Given the description of an element on the screen output the (x, y) to click on. 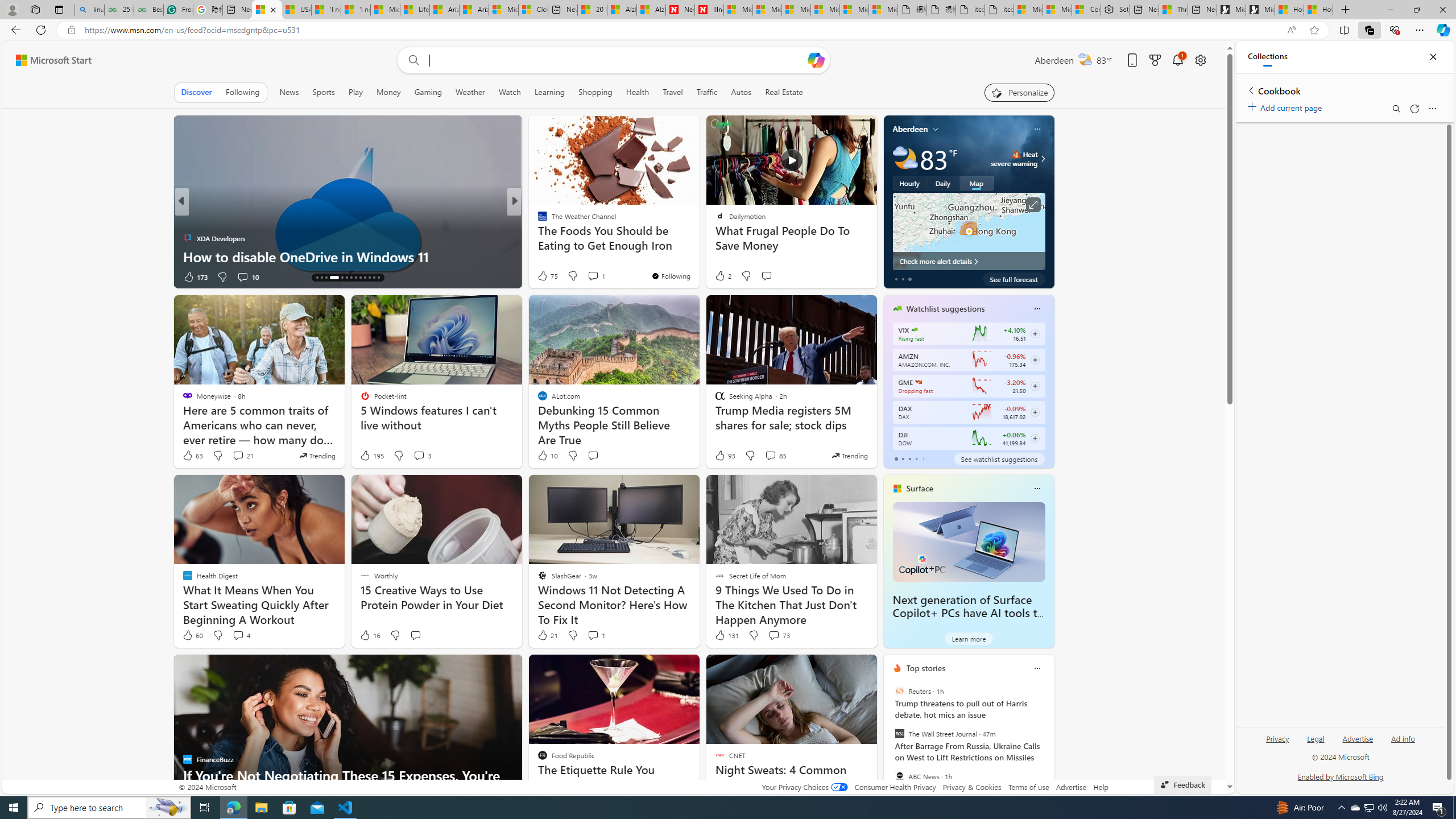
Million Dollar Sense (537, 219)
Illness news & latest pictures from Newsweek.com (709, 9)
60 Like (192, 634)
How to disable OneDrive in Windows 11 (347, 256)
25 Basic Linux Commands For Beginners - GeeksforGeeks (118, 9)
Best SSL Certificates Provider in India - GeeksforGeeks (148, 9)
